Given the description of an element on the screen output the (x, y) to click on. 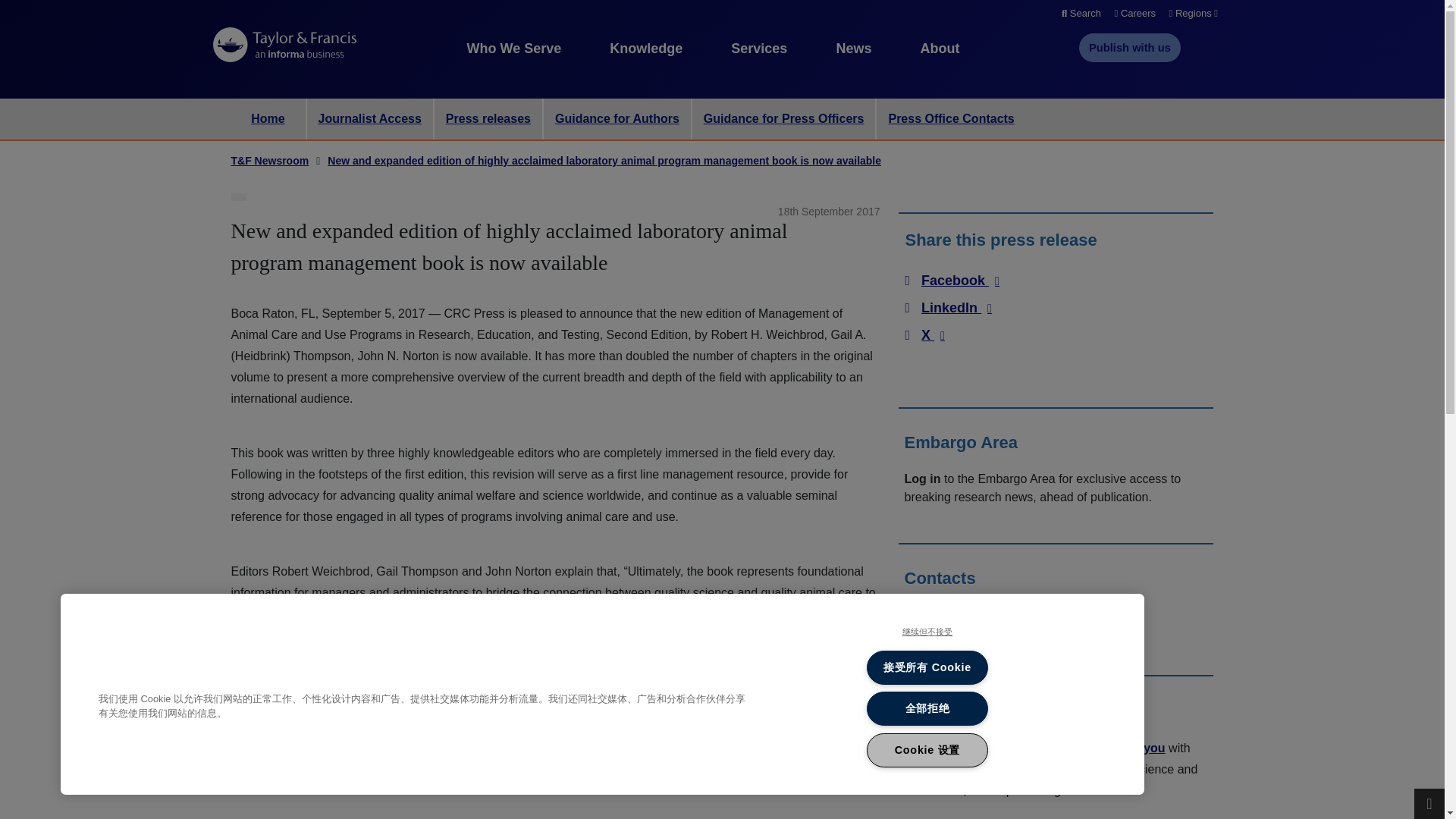
About (939, 48)
Who We Serve (514, 48)
View our Services page (758, 48)
Search (1081, 13)
Publish with us (1129, 47)
Careers (1134, 13)
Regions (1193, 13)
News (852, 48)
View our About Us page (939, 48)
View our Who We Serve page (514, 48)
